Given the description of an element on the screen output the (x, y) to click on. 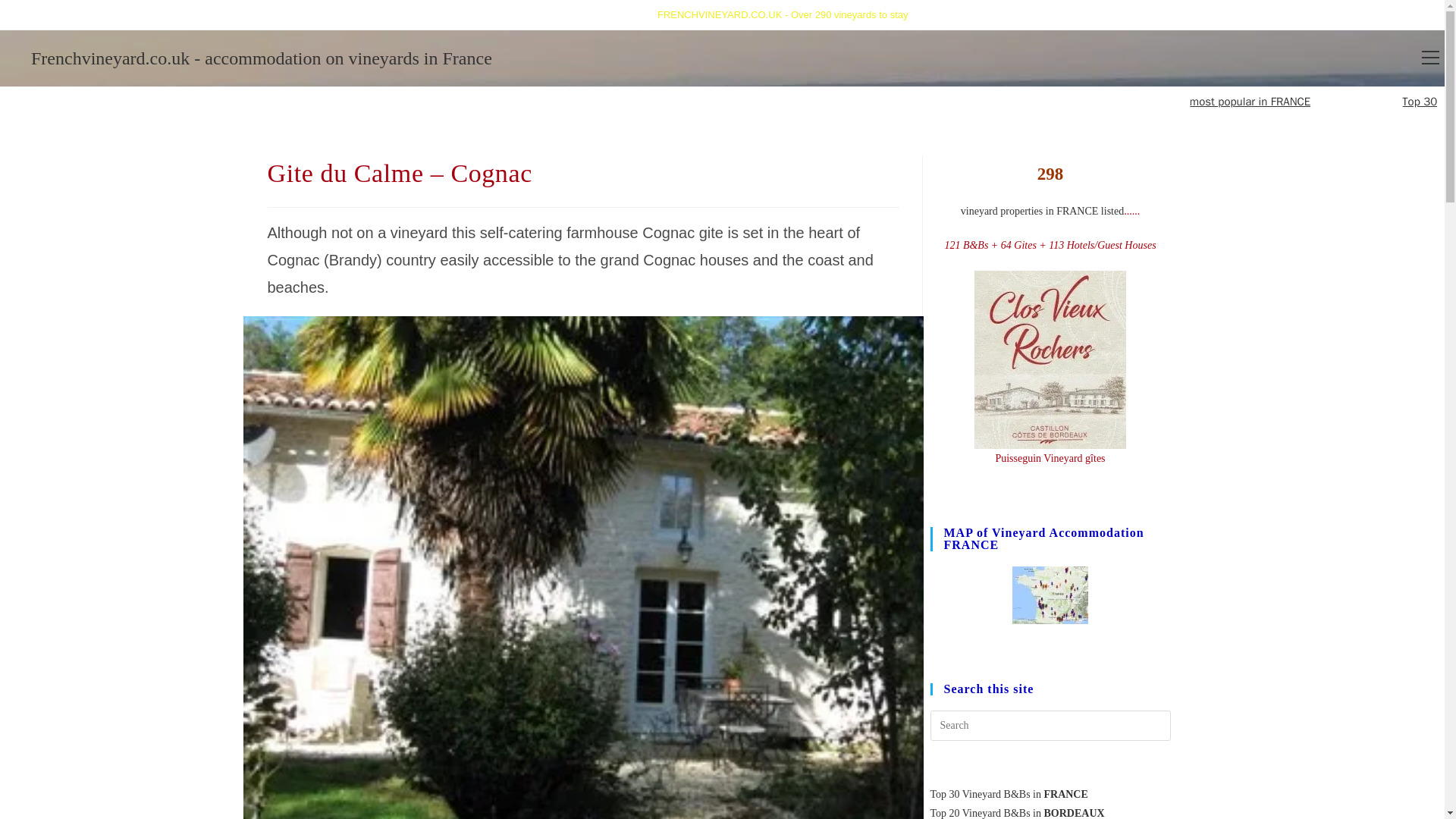
HOME (285, 14)
Privacy Policy (608, 14)
Frenchvineyard.co.uk - accommodation on vineyards in France (261, 57)
ADD to our listings (357, 14)
Contact Frenchvineyard (462, 14)
About Us (545, 14)
